Given the description of an element on the screen output the (x, y) to click on. 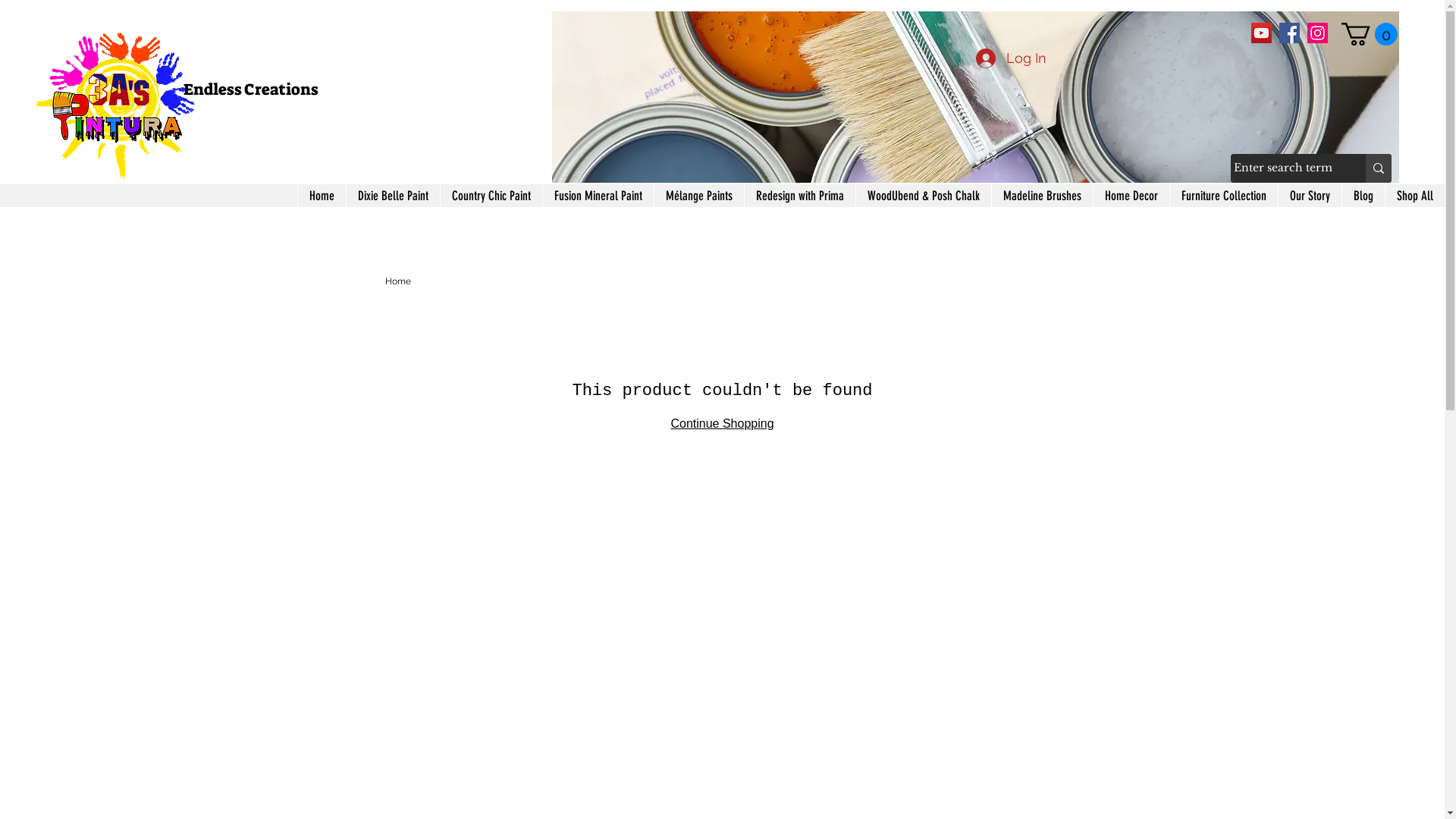
Shop All Element type: text (1414, 195)
Continue Shopping Element type: text (721, 423)
Home Element type: text (398, 281)
0 Element type: text (1369, 33)
Our Story Element type: text (1309, 195)
Furniture Collection Element type: text (1223, 195)
Country Chic Paint Element type: text (490, 195)
Blog Element type: text (1362, 195)
Home Element type: text (321, 195)
Log In Element type: text (1009, 58)
